Given the description of an element on the screen output the (x, y) to click on. 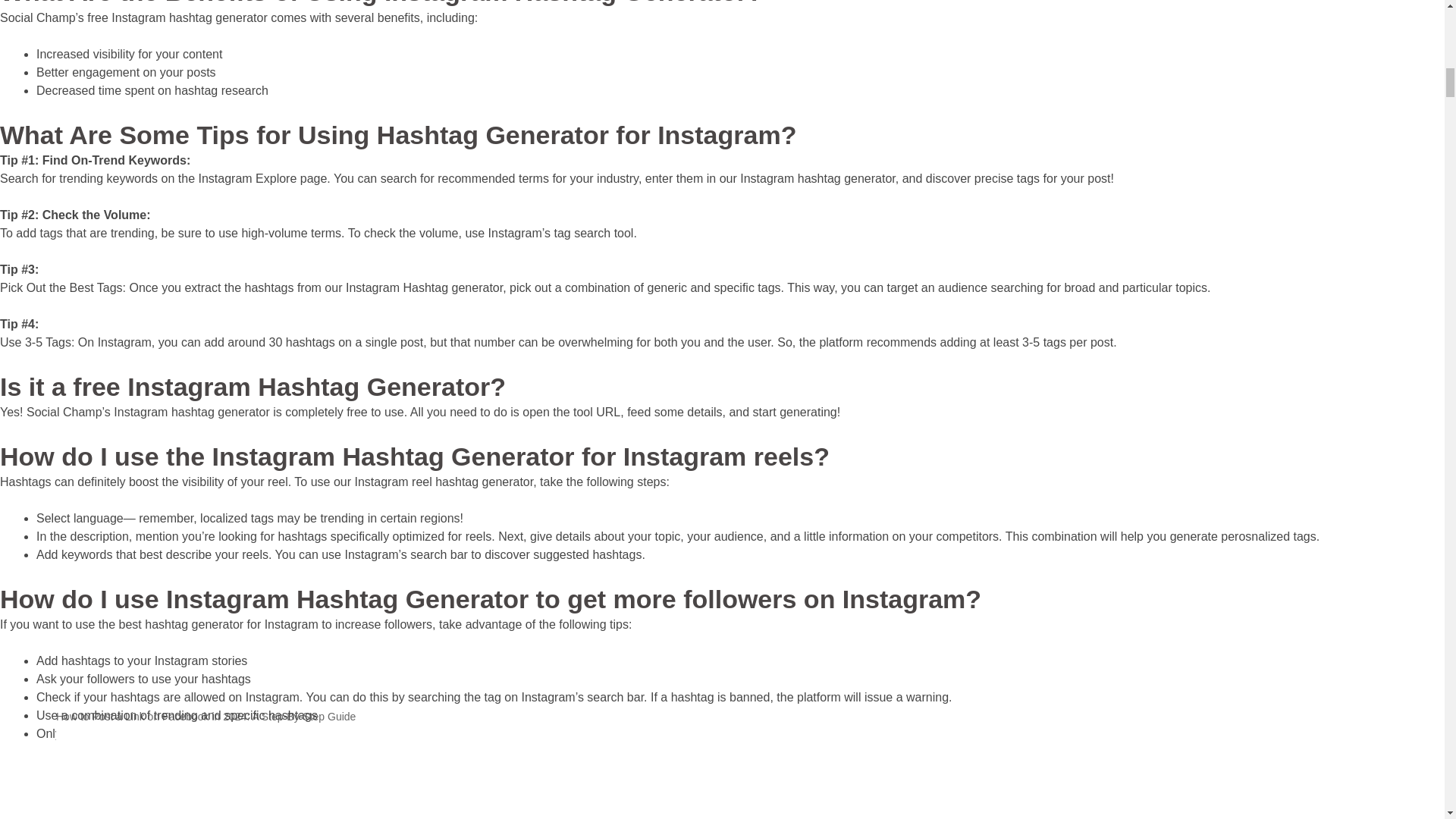
How to Post a Link on Facebook in 2024: A Step-By-Step Guide (205, 716)
